Given the description of an element on the screen output the (x, y) to click on. 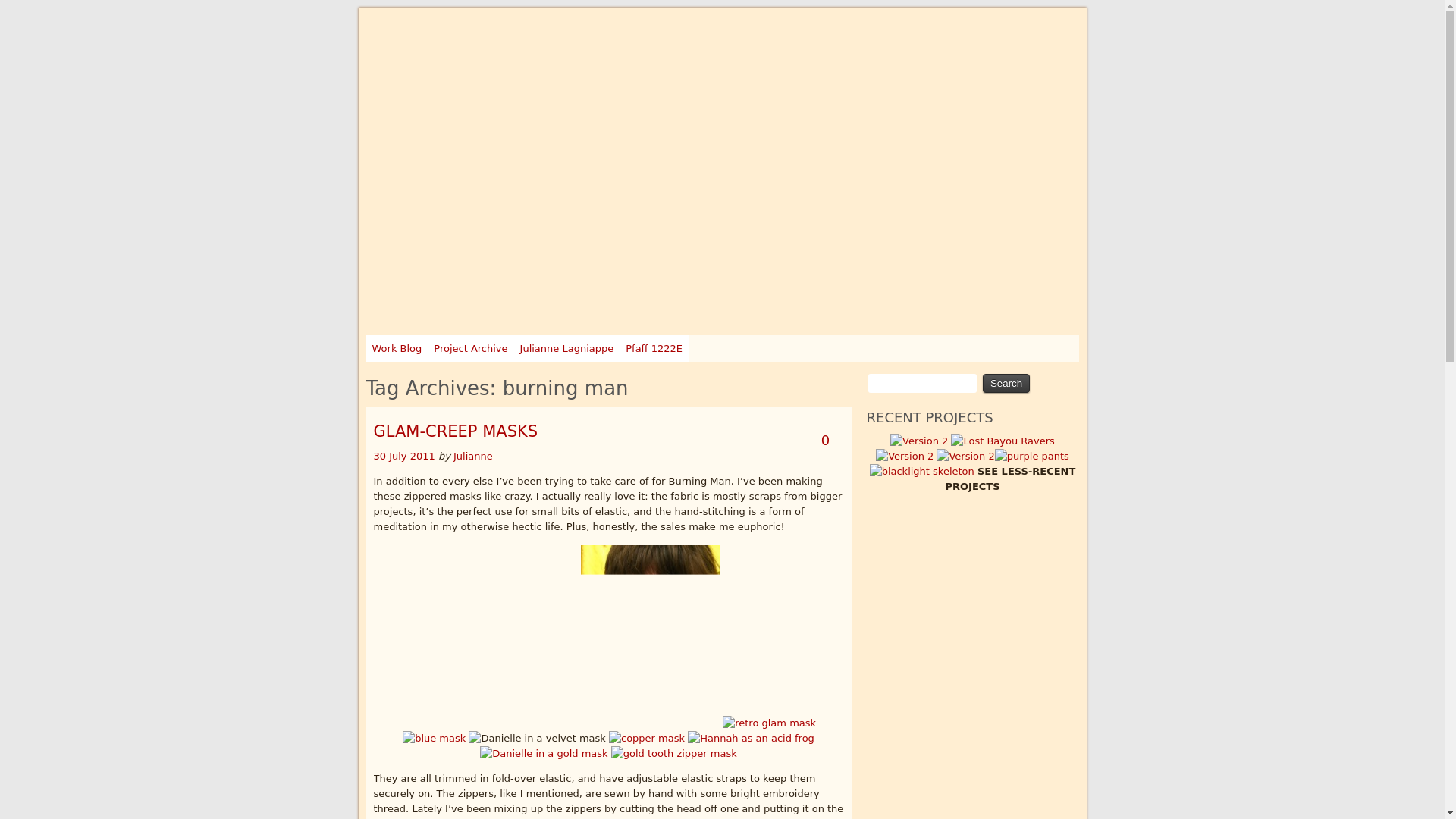
Pfaff 1222E (654, 348)
Danielle in a pink zipper mask (489, 635)
copper mask (646, 738)
Permalink to GLAM-CREEP MASKS (454, 431)
Hannah as an acid frog (750, 738)
Danielle in a velvet mask (536, 738)
GLAM-CREEP MASKS (454, 431)
Work Blog (396, 348)
View all posts by Julianne (472, 455)
Project Archive (470, 348)
30 July 2011 (405, 455)
Permanent Link to GLAM-CREEP MASKS (405, 455)
retro glam mask (768, 723)
made by Julianne (463, 28)
gold tooth zipper mask (673, 753)
